Given the description of an element on the screen output the (x, y) to click on. 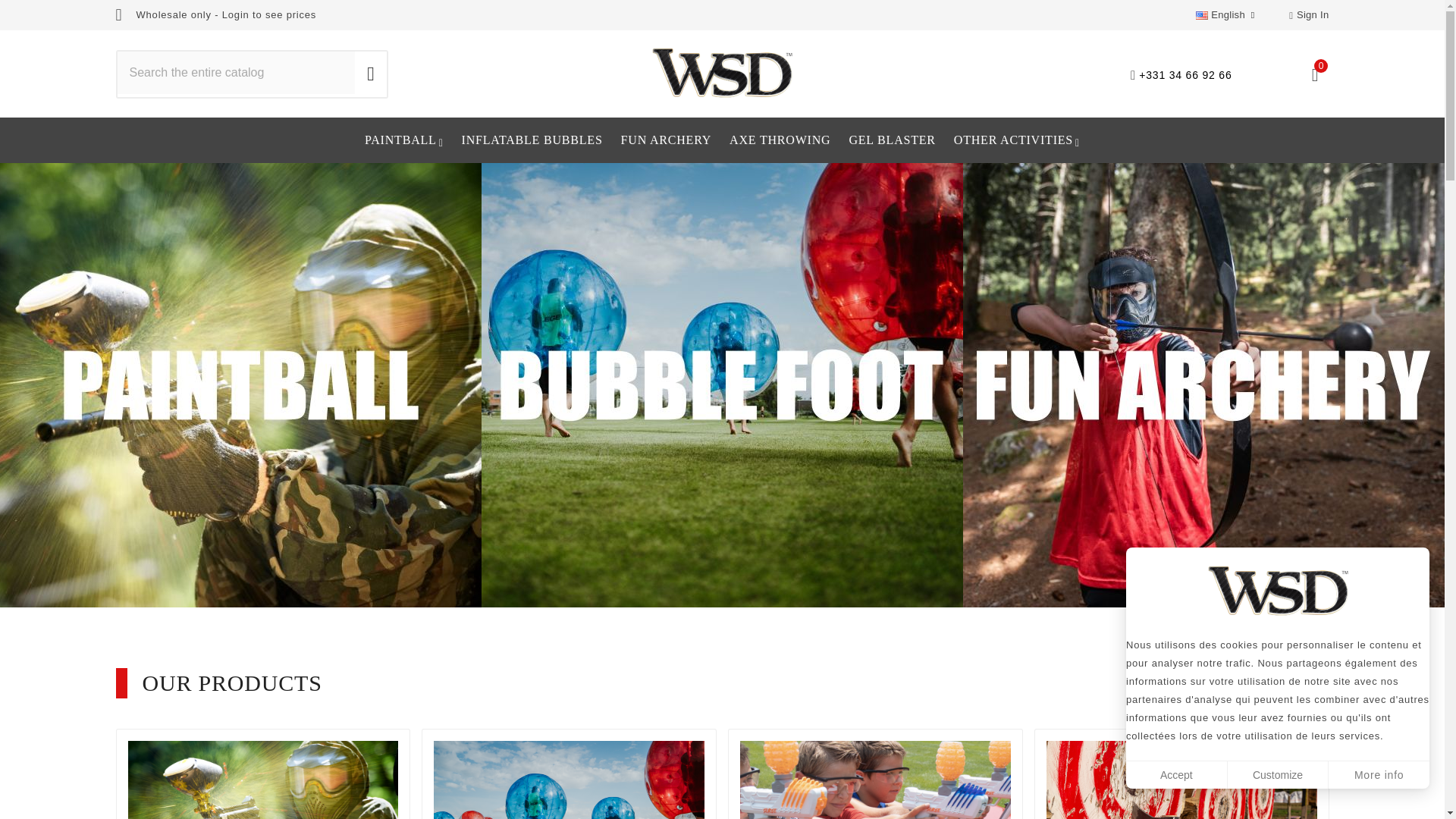
Axe Throwing (780, 139)
PAINTBALL (403, 139)
Gel Blaster (891, 139)
Fun Archery (665, 139)
Cart (1313, 75)
Inflatable Bubbles (531, 139)
